Given the description of an element on the screen output the (x, y) to click on. 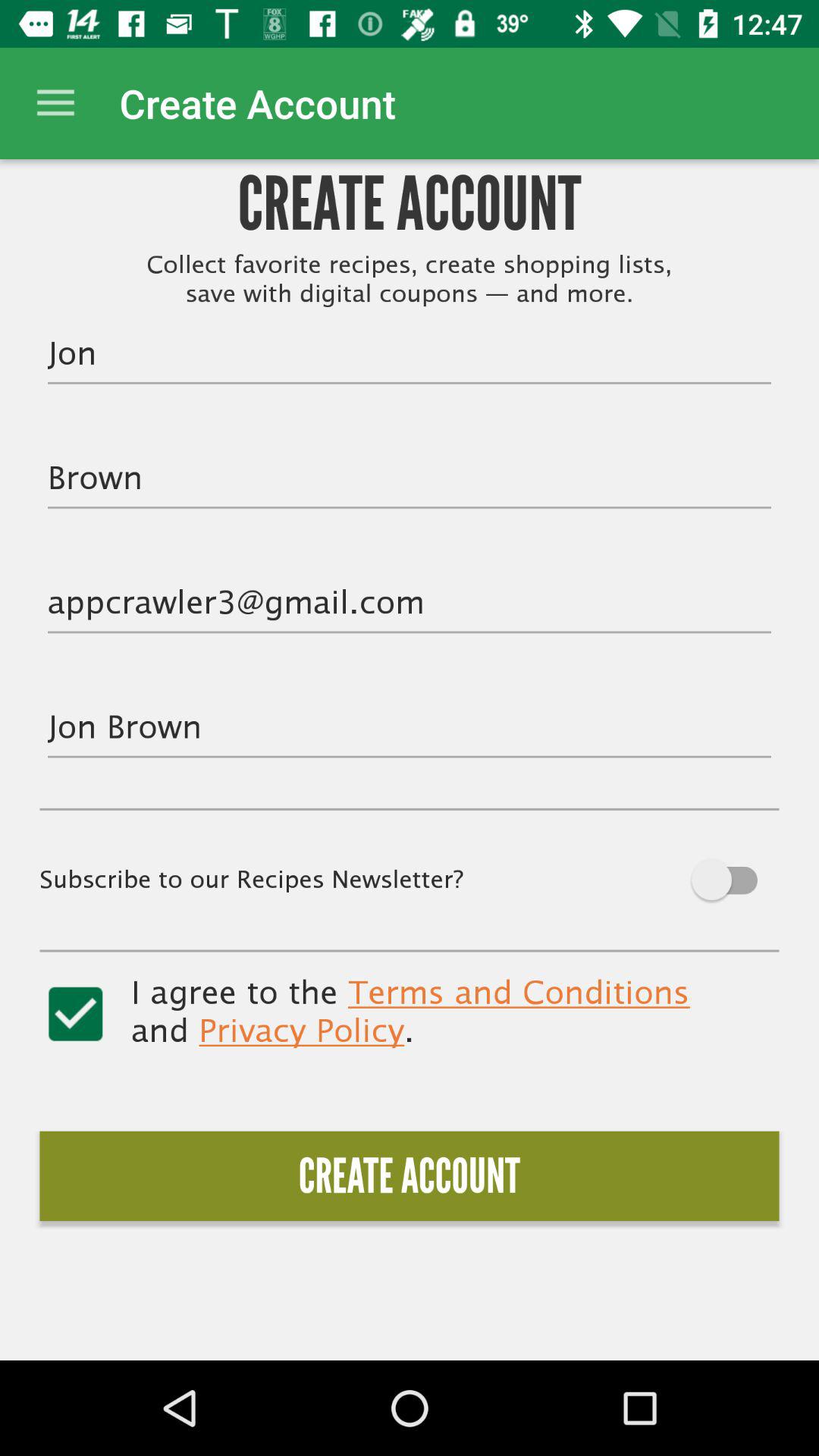
check to agree (75, 1013)
